Given the description of an element on the screen output the (x, y) to click on. 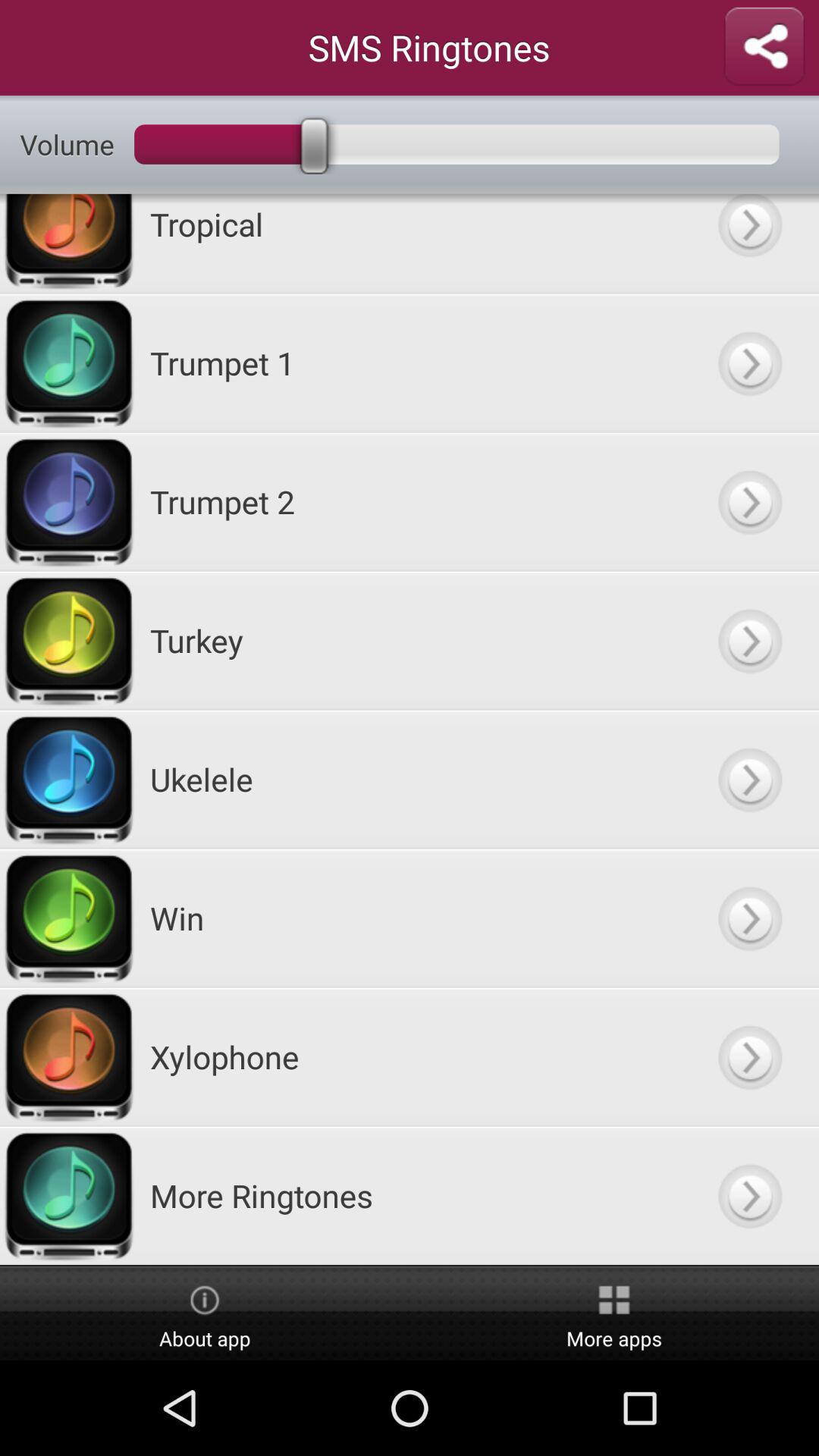
open ukelele (749, 779)
